Given the description of an element on the screen output the (x, y) to click on. 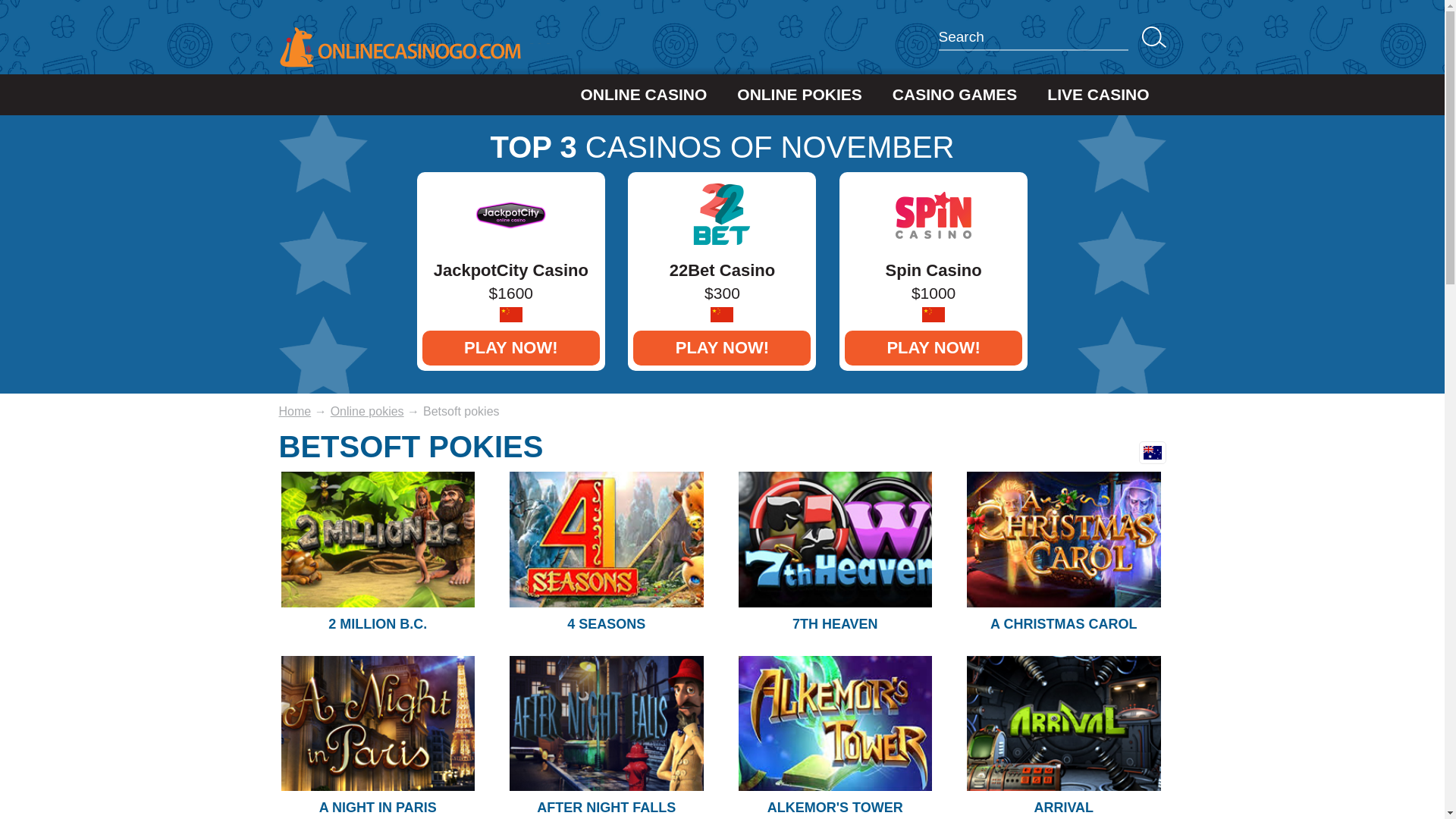
22Bet Casino Element type: text (721, 228)
7TH HEAVEN Element type: text (835, 623)
JackpotCity Casino Element type: text (510, 228)
PLAY NOW! Element type: text (933, 347)
Home Element type: text (295, 410)
LIVE CASINO Element type: text (327, 38)
4 SEASONS Element type: text (606, 623)
CASINO GAMES Element type: text (954, 94)
A NIGHT IN PARIS Element type: text (377, 807)
ARRIVAL Element type: text (1063, 807)
PLAY NOW! Element type: text (721, 347)
LIVE CASINO Element type: text (1097, 94)
ONLINE POKIES Element type: text (799, 94)
Spin Casino Element type: text (933, 228)
A CHRISTMAS CAROL Element type: text (1063, 623)
Australia Element type: hover (1152, 452)
PLAY NOW! Element type: text (510, 347)
Online pokies Element type: text (367, 410)
2 MILLION B.C. Element type: text (377, 623)
ONLINE CASINO Element type: text (643, 94)
CASINO GAMES Element type: text (184, 38)
AFTER NIGHT FALLS Element type: text (605, 807)
ALKEMOR'S TOWER Element type: text (835, 807)
